Given the description of an element on the screen output the (x, y) to click on. 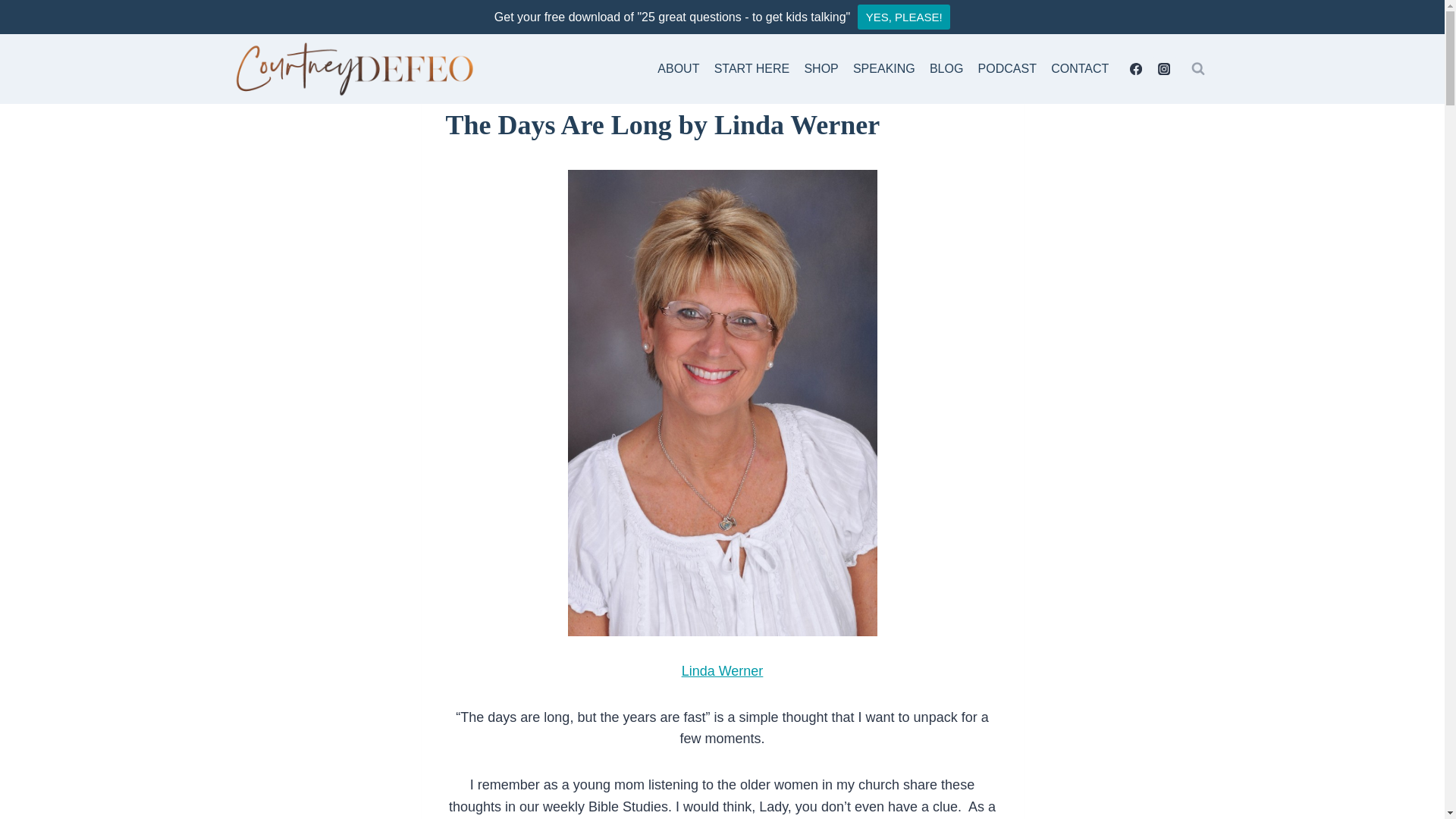
SHOP (820, 69)
CONTACT (1079, 69)
BLOG (946, 69)
ROLE OF MOM (662, 91)
SPEAKING (883, 69)
MOTHER'S HEART (570, 91)
PODCAST (1007, 69)
ABOUT (678, 69)
YES, PLEASE! (903, 16)
START HERE (751, 69)
Linda Werner (721, 670)
A BETTER ME (480, 91)
